Given the description of an element on the screen output the (x, y) to click on. 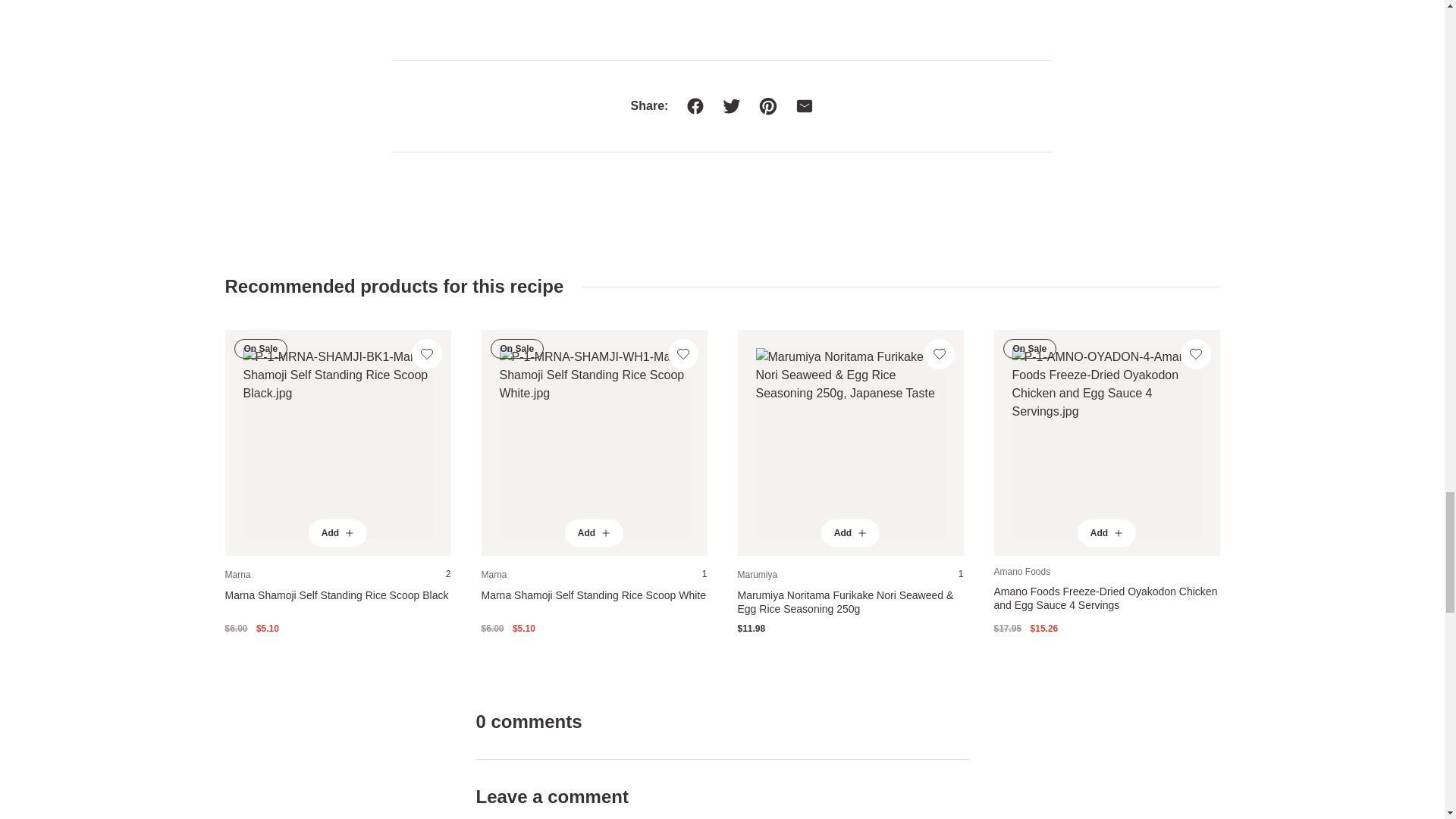
Share by Email (795, 106)
